Given the description of an element on the screen output the (x, y) to click on. 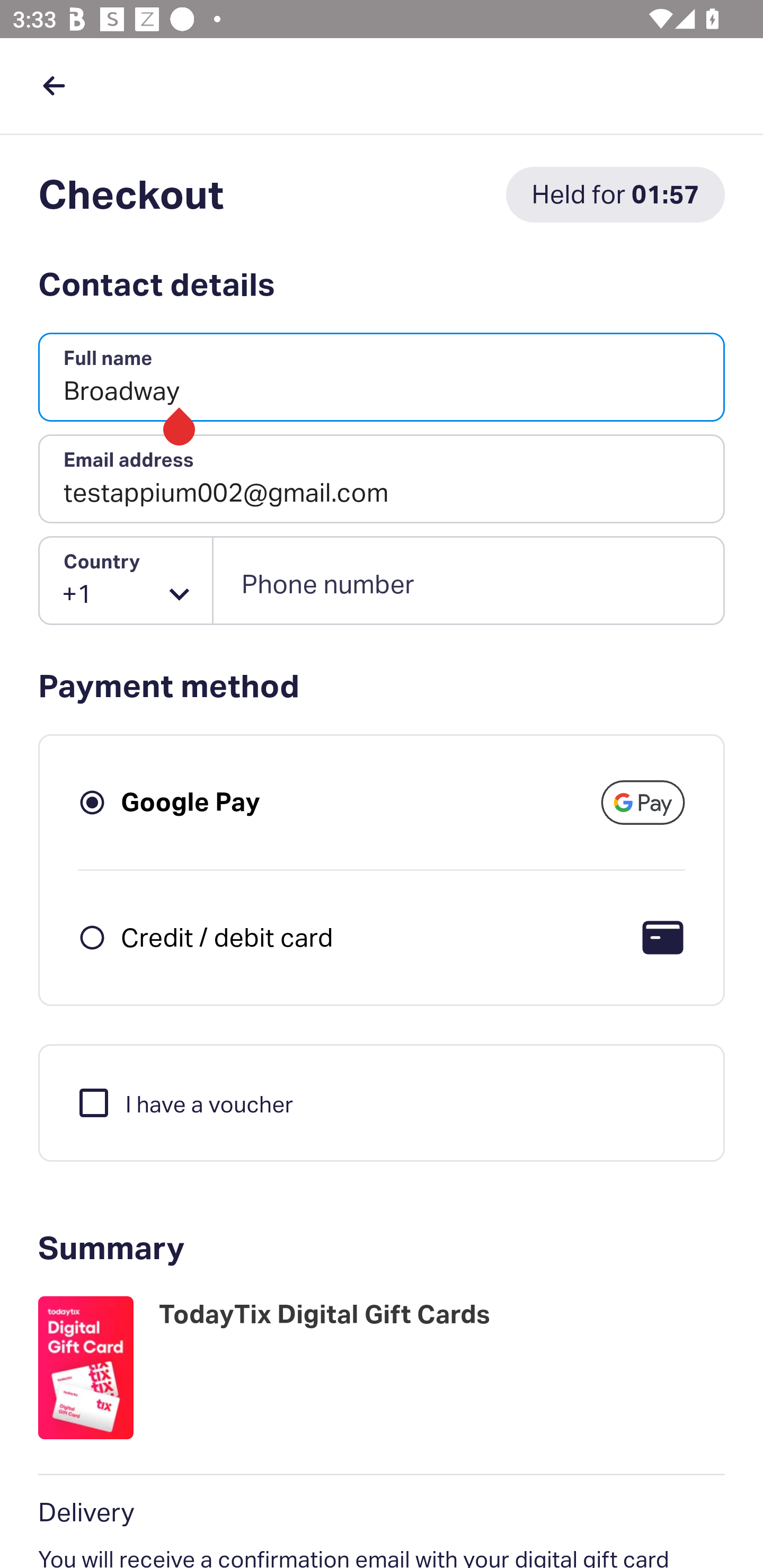
back button (53, 85)
Broadway (381, 377)
testappium002@gmail.com (381, 478)
  +1 (126, 580)
Google Pay (190, 802)
Credit / debit card (227, 936)
I have a voucher (183, 1101)
